Given the description of an element on the screen output the (x, y) to click on. 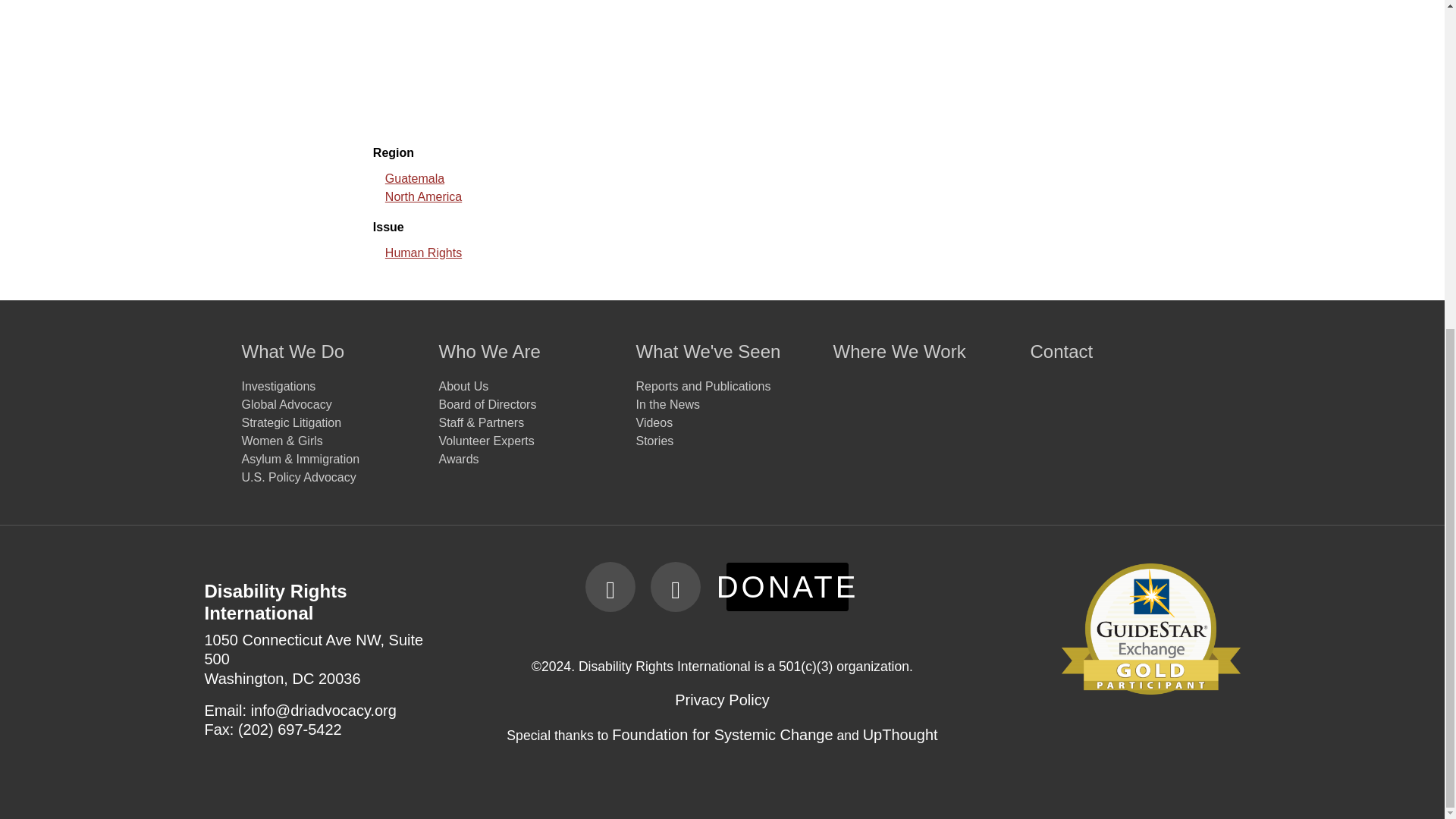
U.S. Policy Advocacy (327, 477)
Human Rights (423, 252)
Global Advocacy (327, 404)
North America (423, 196)
Guatemala (414, 178)
Strategic Litigation (327, 423)
Investigations (327, 386)
What We Do (327, 357)
Inside 'world's most dangerous' hospital in Guatemala (721, 65)
Who We Are (524, 357)
